Given the description of an element on the screen output the (x, y) to click on. 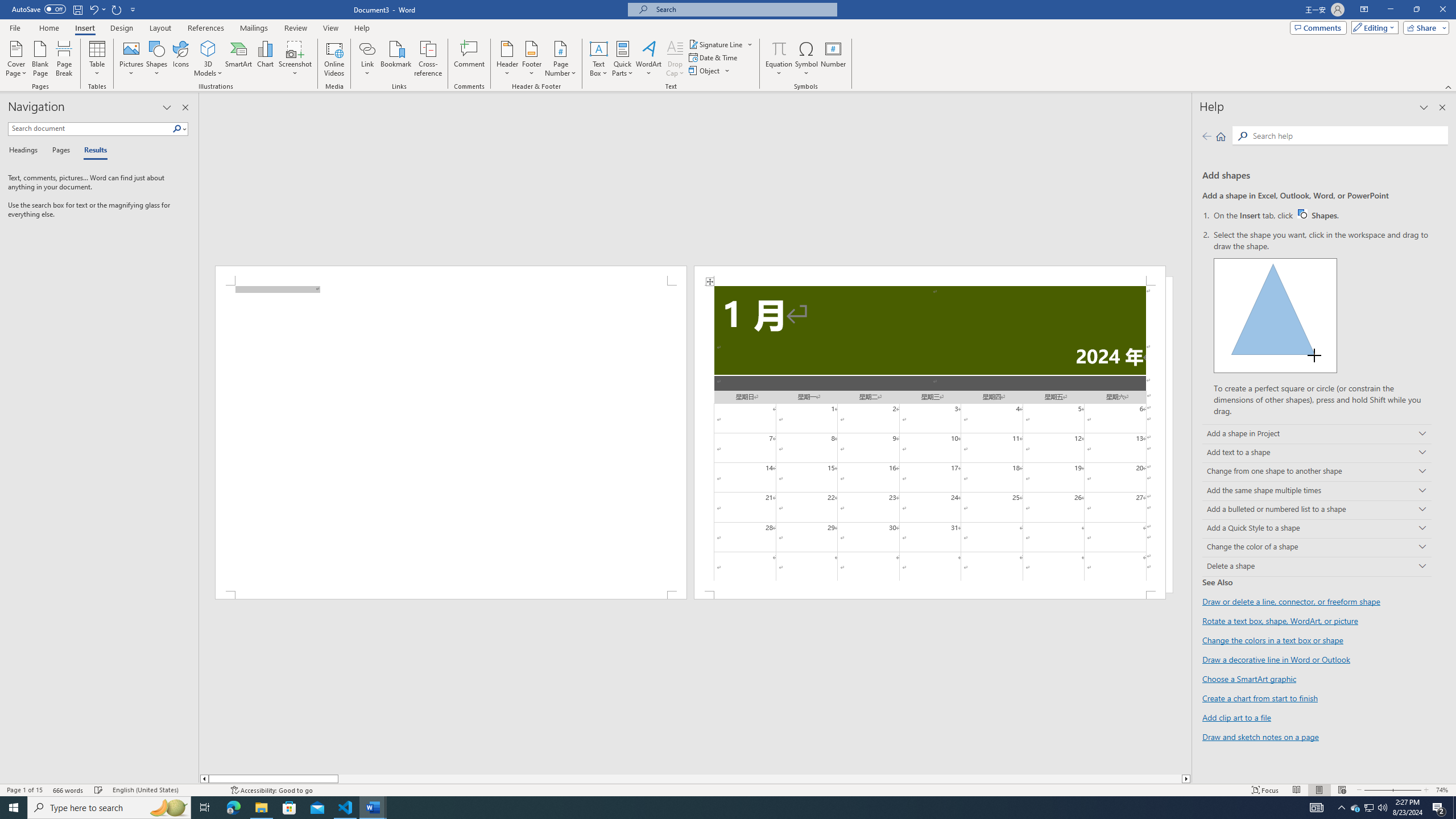
WordArt (648, 58)
Footer (531, 58)
Search document (89, 128)
Signature Line (721, 44)
Add the same shape multiple times (1316, 490)
Comment (469, 58)
Undo New Page (96, 9)
AutoSave (38, 9)
Table (97, 58)
Microsoft search (742, 9)
Page Number Page 1 of 15 (24, 790)
Undo New Page (92, 9)
Share (1423, 27)
Class: MsoCommandBar (728, 789)
